Given the description of an element on the screen output the (x, y) to click on. 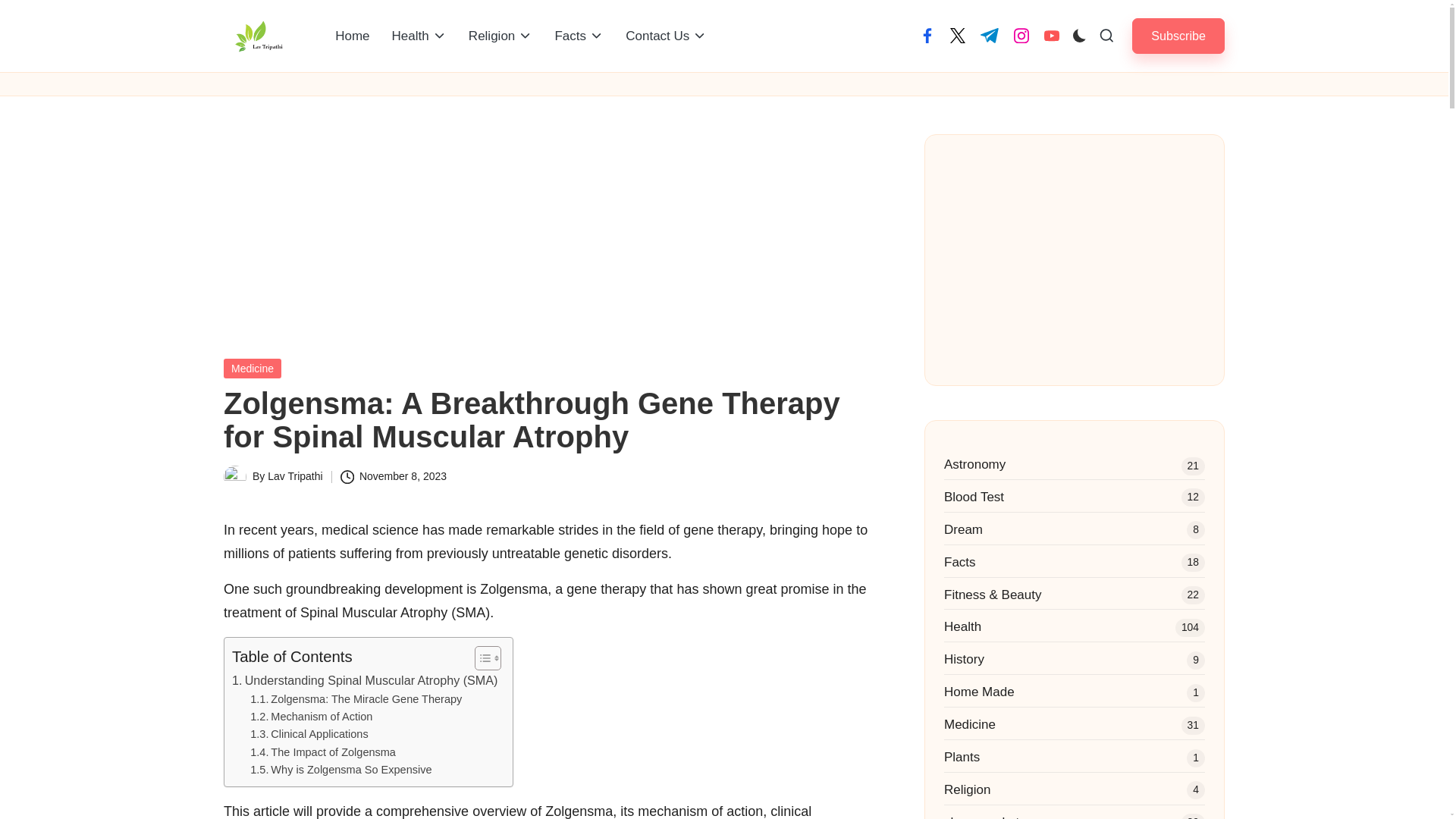
Why is Zolgensma So Expensive (340, 769)
The Impact of Zolgensma (323, 752)
Religion (500, 36)
Health (419, 36)
Zolgensma: The Miracle Gene Therapy (355, 699)
View all posts by Lav Tripathi (294, 476)
Facts (578, 36)
Mechanism of Action (311, 716)
Home (352, 36)
Advertisement (1074, 259)
Clinical Applications (309, 733)
